Given the description of an element on the screen output the (x, y) to click on. 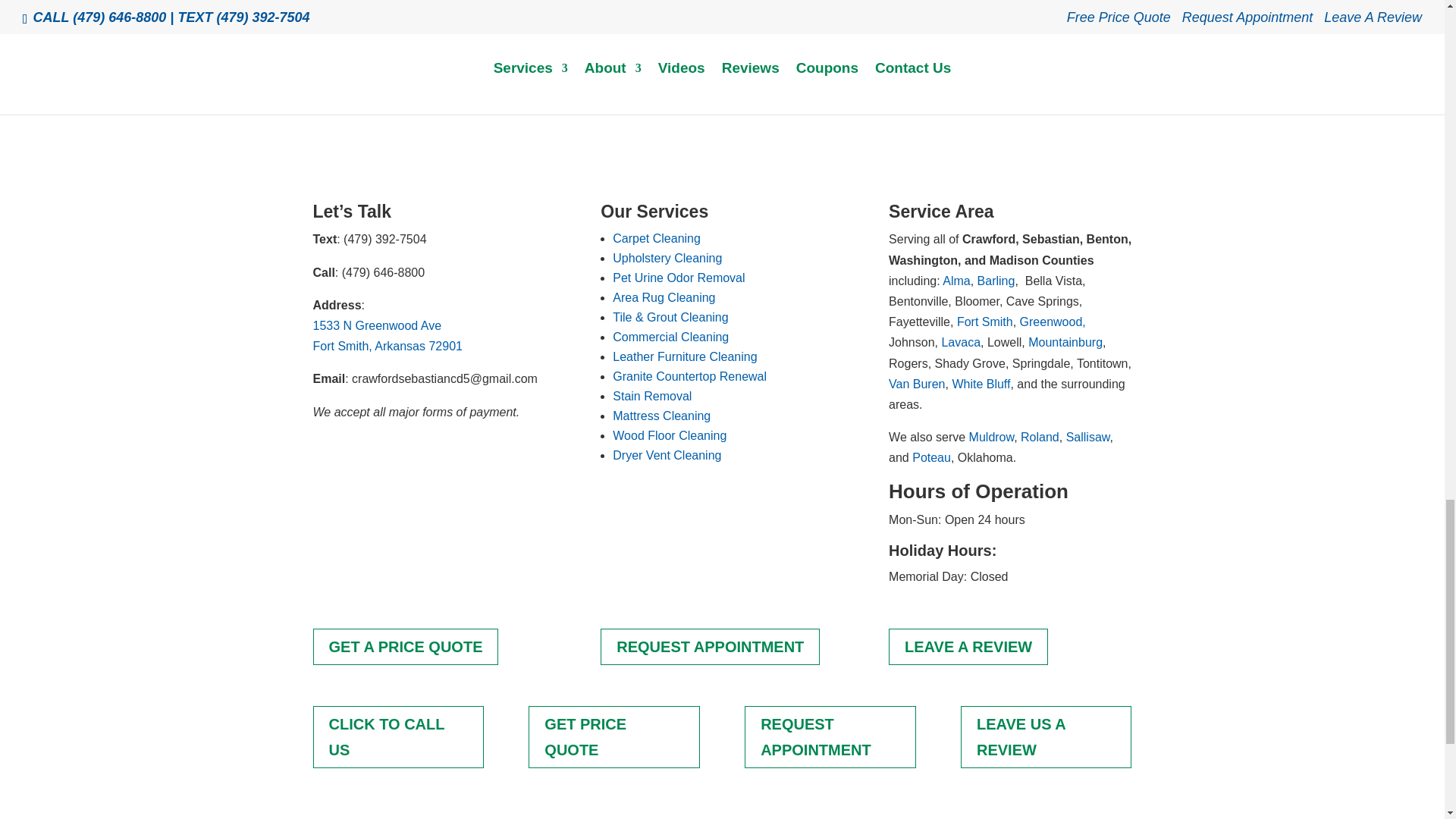
Fort Smith, Arkansas 72901 (387, 345)
Follow on Facebook (354, 456)
1533 N Greenwood Ave (377, 325)
Follow on Instagram (384, 456)
Follow on Pinterest (415, 456)
Follow on Google (324, 456)
